Given the description of an element on the screen output the (x, y) to click on. 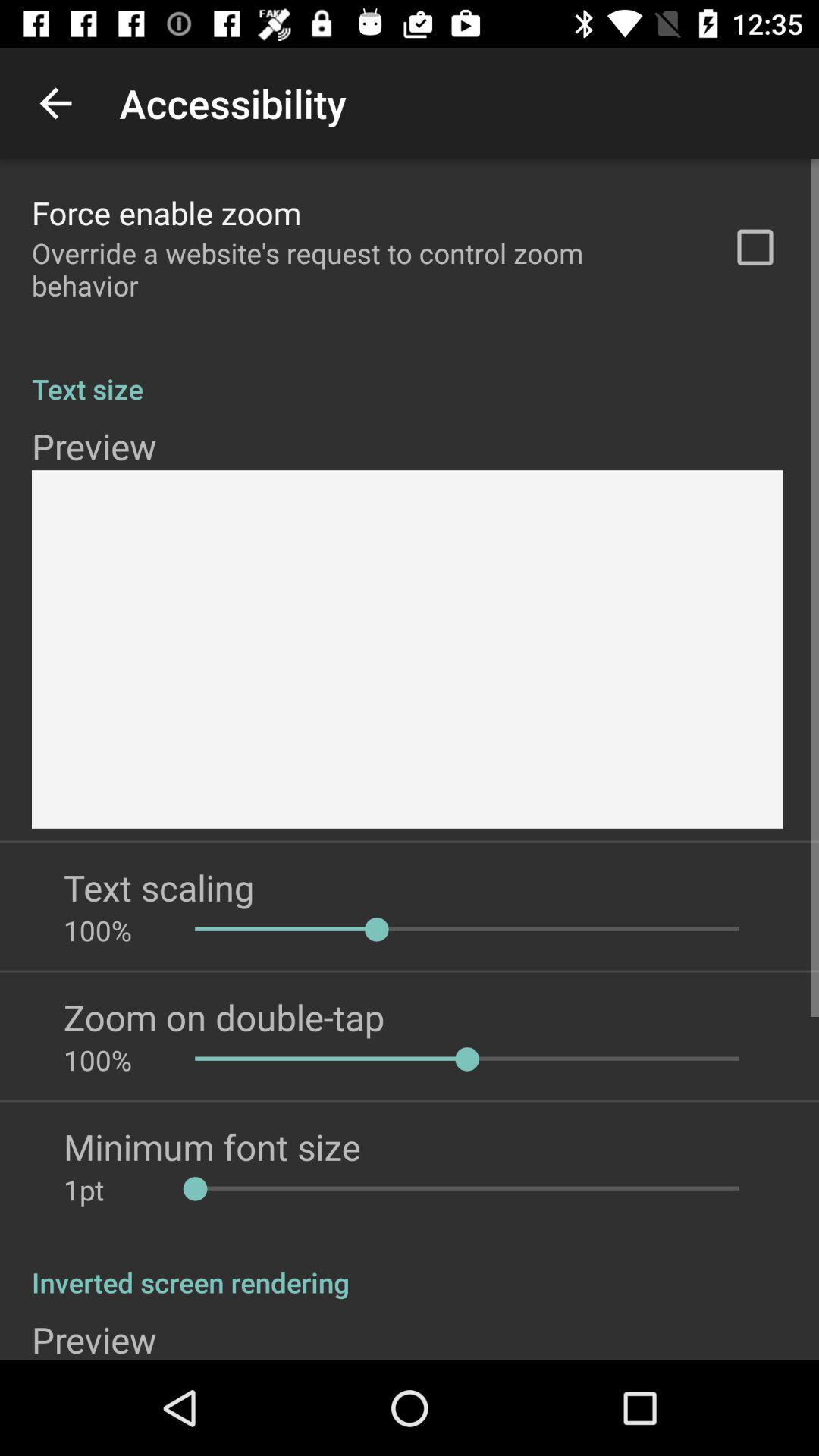
scroll until zoom on double (223, 1017)
